Given the description of an element on the screen output the (x, y) to click on. 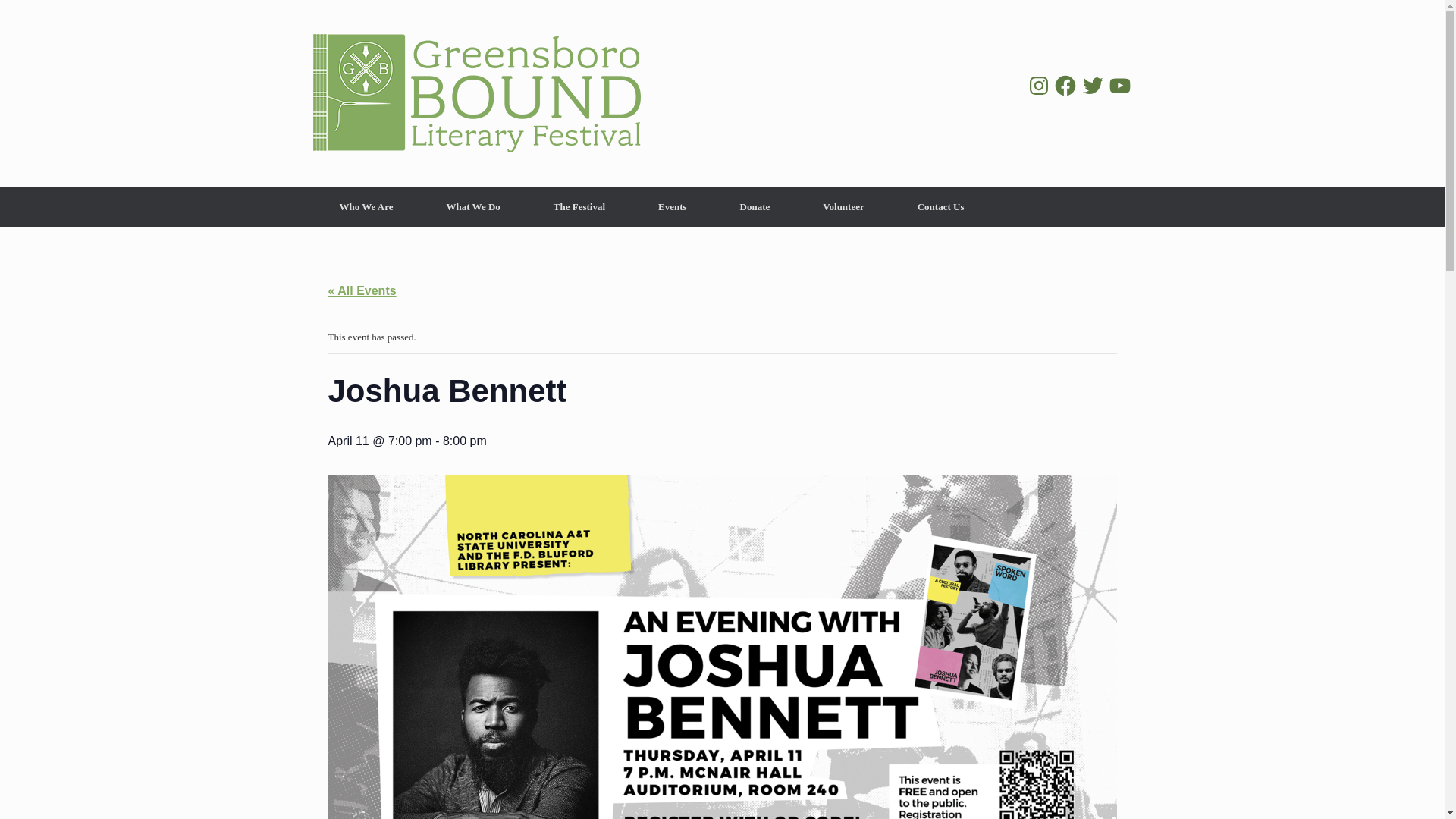
Twitter (1092, 85)
Instagram (1038, 85)
Who We Are (366, 206)
YouTube (1118, 85)
The Festival (579, 206)
Greensboro Bound (476, 93)
Facebook (1064, 85)
Events (672, 206)
What We Do (473, 206)
